Given the description of an element on the screen output the (x, y) to click on. 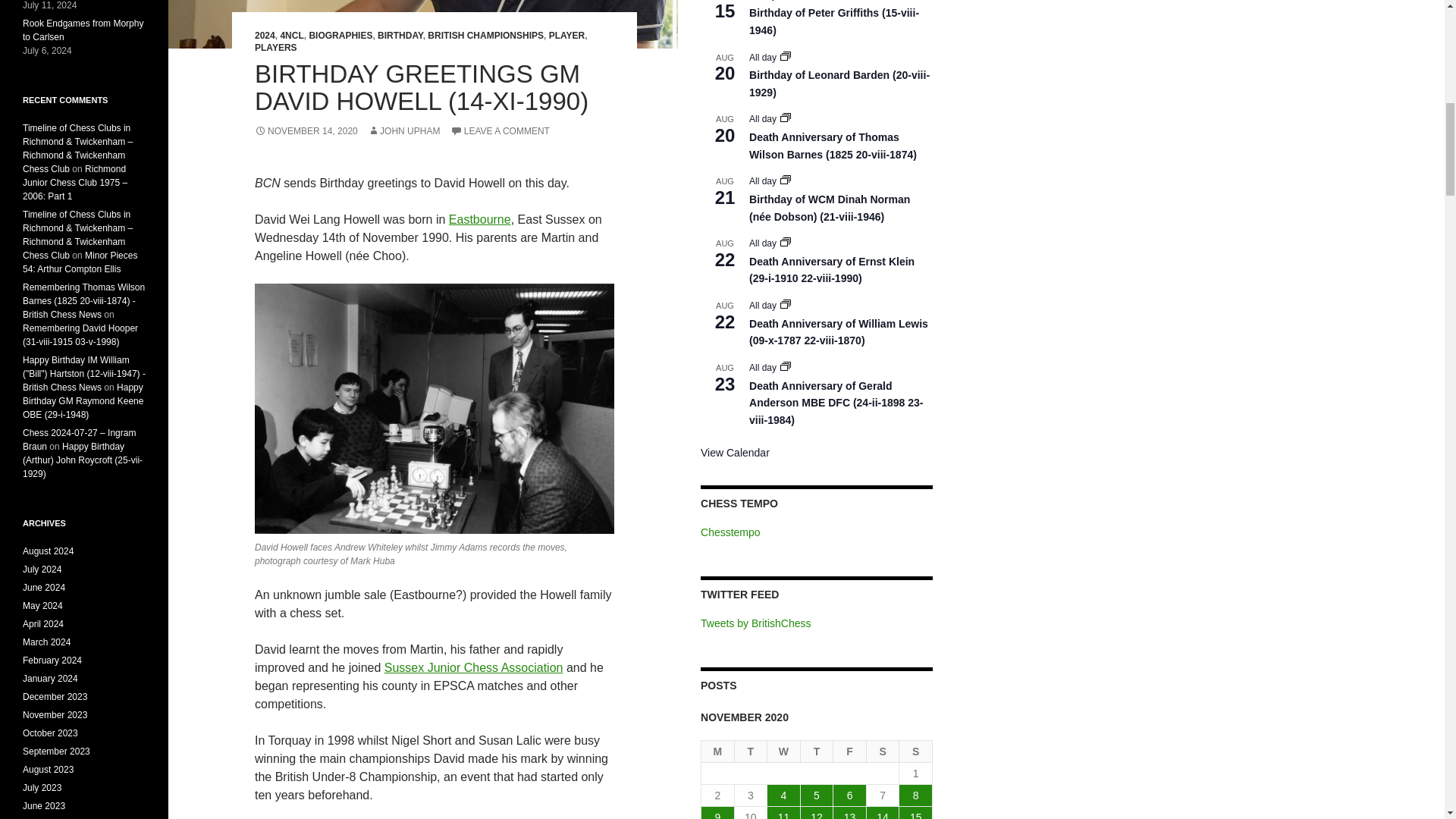
BRITISH CHAMPIONSHIPS (485, 35)
2024 (264, 35)
Event Series (785, 366)
Event Series (785, 241)
JOHN UPHAM (403, 131)
4NCL (290, 35)
Event Series (785, 55)
NOVEMBER 14, 2020 (306, 131)
PLAYERS (275, 47)
LEAVE A COMMENT (499, 131)
